Given the description of an element on the screen output the (x, y) to click on. 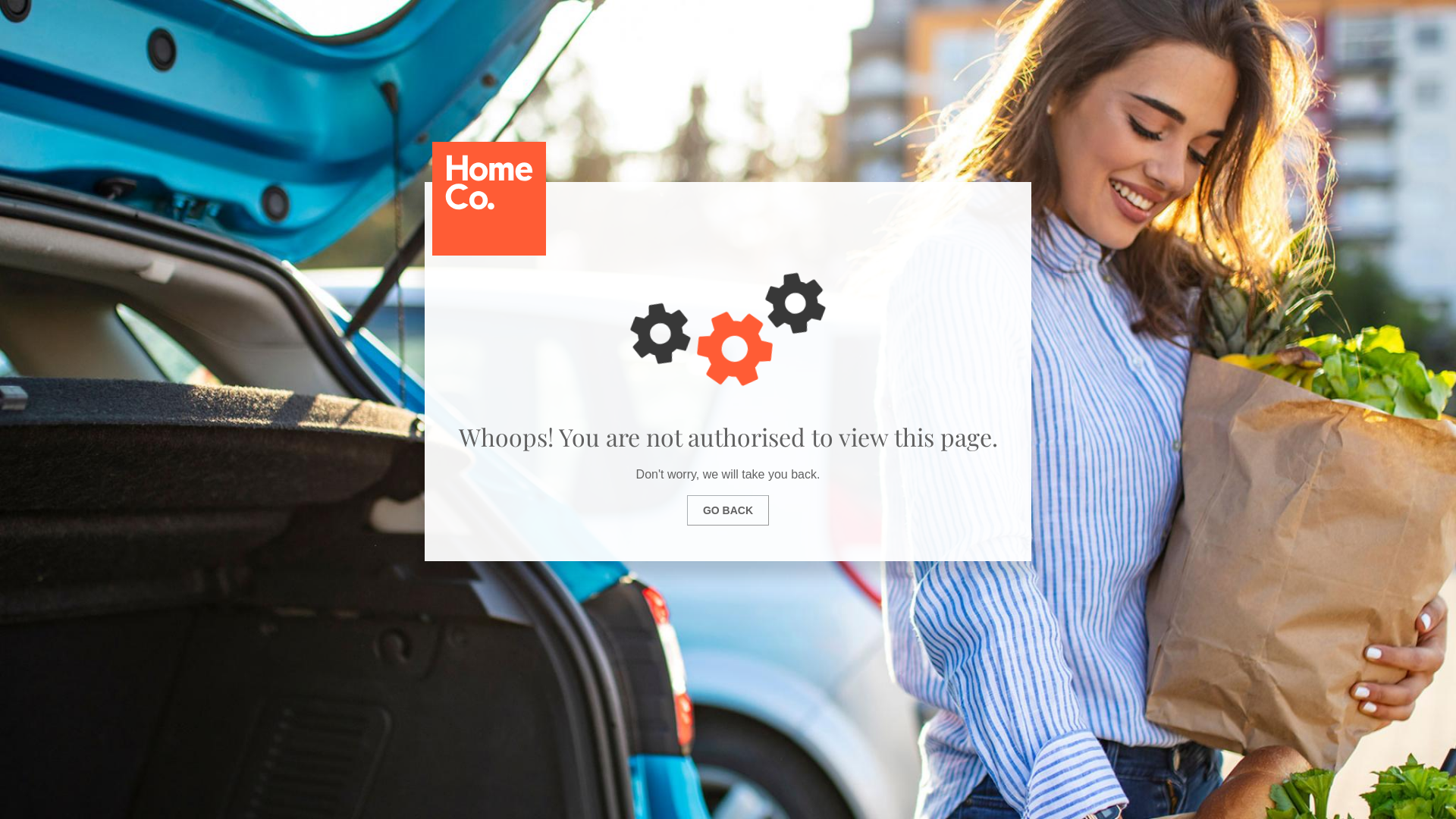
GO BACK Element type: text (727, 510)
